Given the description of an element on the screen output the (x, y) to click on. 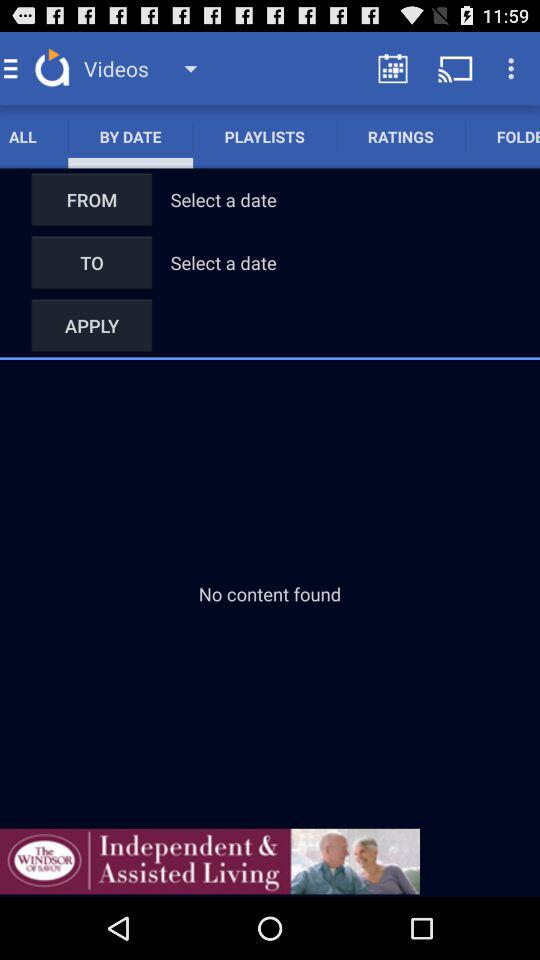
click on the button on right of ratings (502, 136)
